Given the description of an element on the screen output the (x, y) to click on. 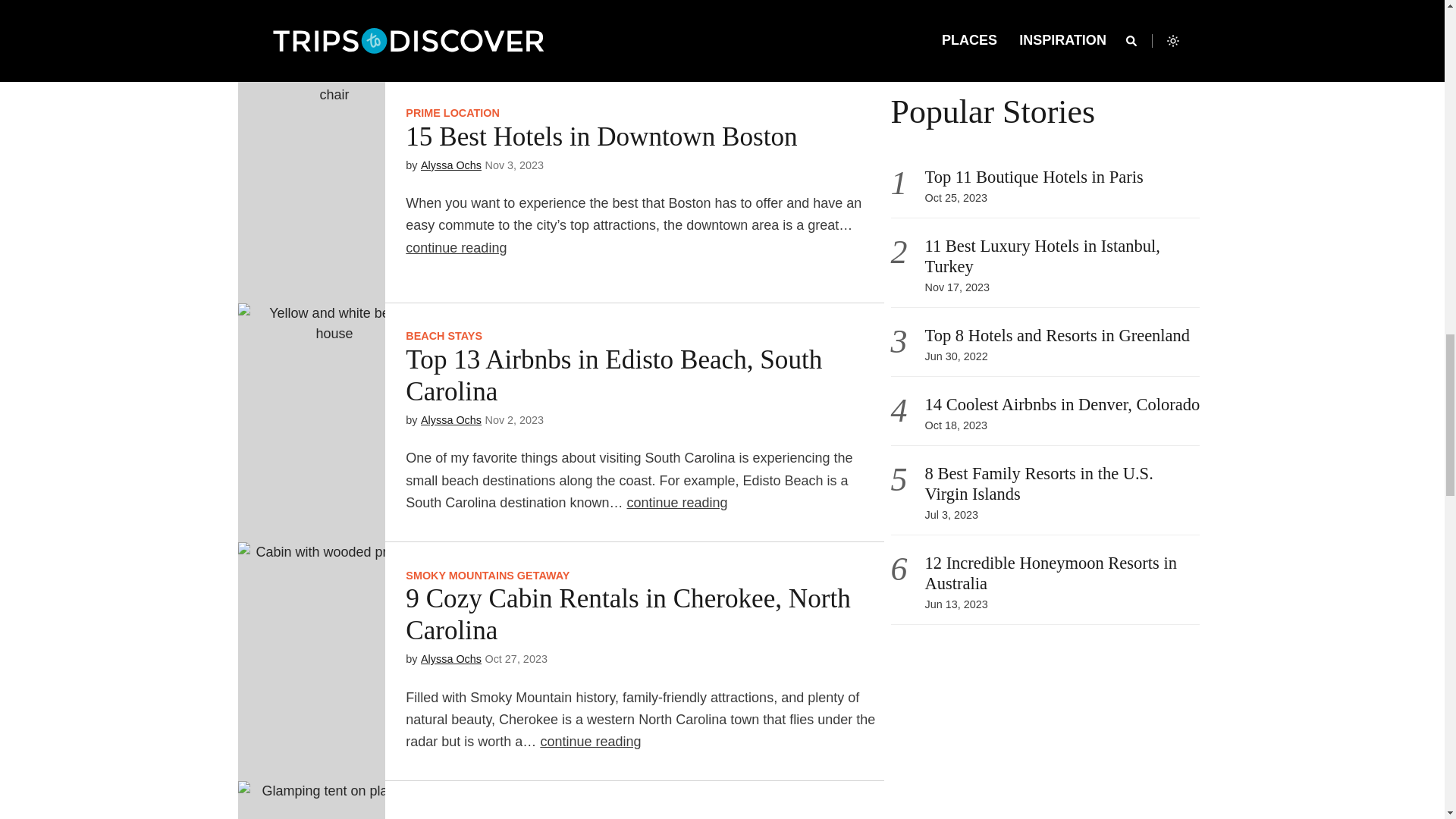
15 Best Hotels in Downtown Boston (601, 136)
15 Best Hotels in Downtown Boston (311, 183)
Top 13 Luxury Hotels in Milwaukee, Wisconsin (311, 31)
Top 13 Luxury Hotels in Milwaukee, Wisconsin (518, 23)
